Given the description of an element on the screen output the (x, y) to click on. 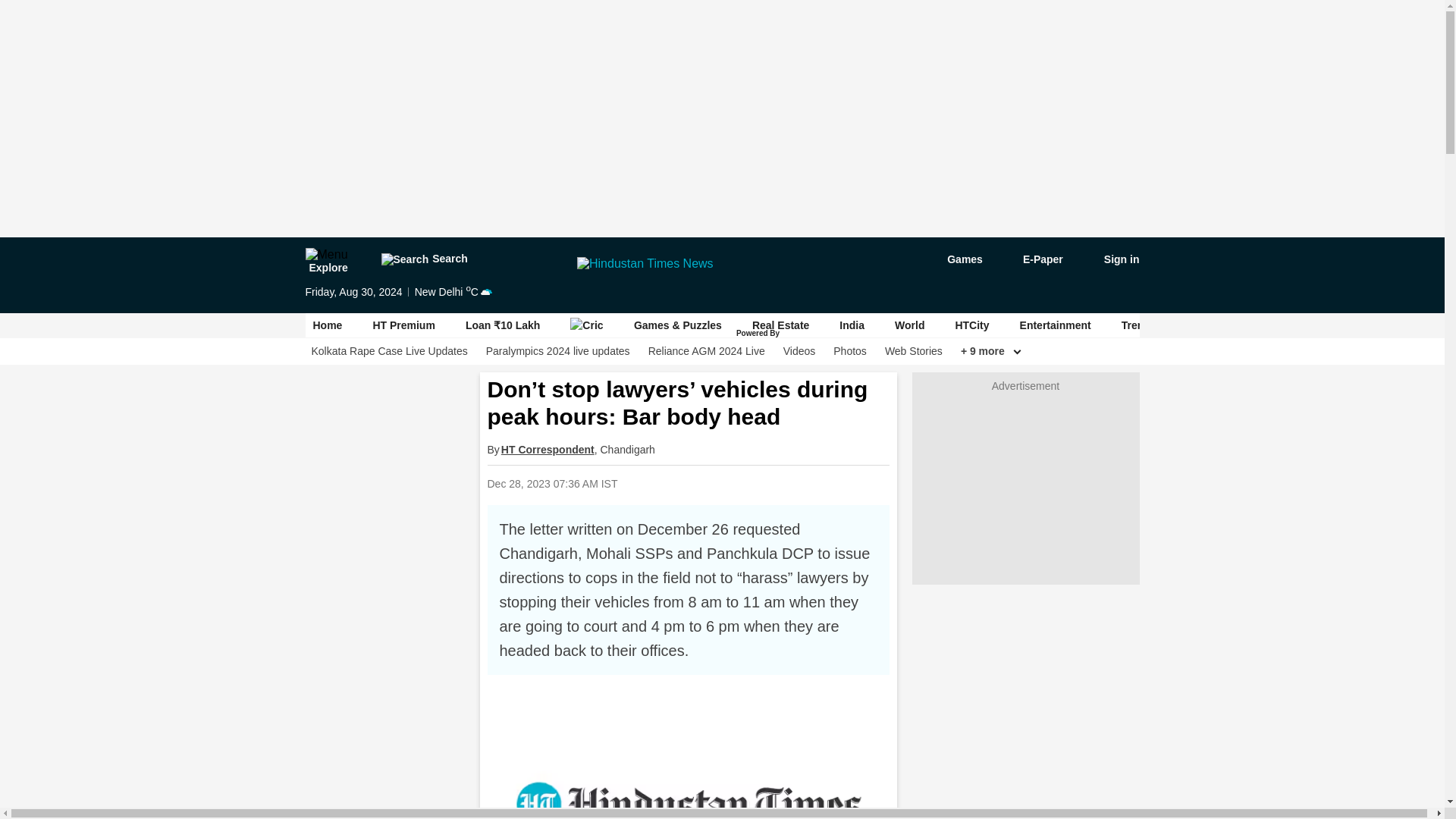
Web Stories (913, 350)
game (954, 258)
HT Premium (402, 325)
Home (327, 325)
Search (423, 258)
Astrology (1221, 325)
Reliance AGM 2024 Live (706, 350)
Education (1374, 325)
E-Paper (1034, 258)
Trending (1143, 325)
